Given the description of an element on the screen output the (x, y) to click on. 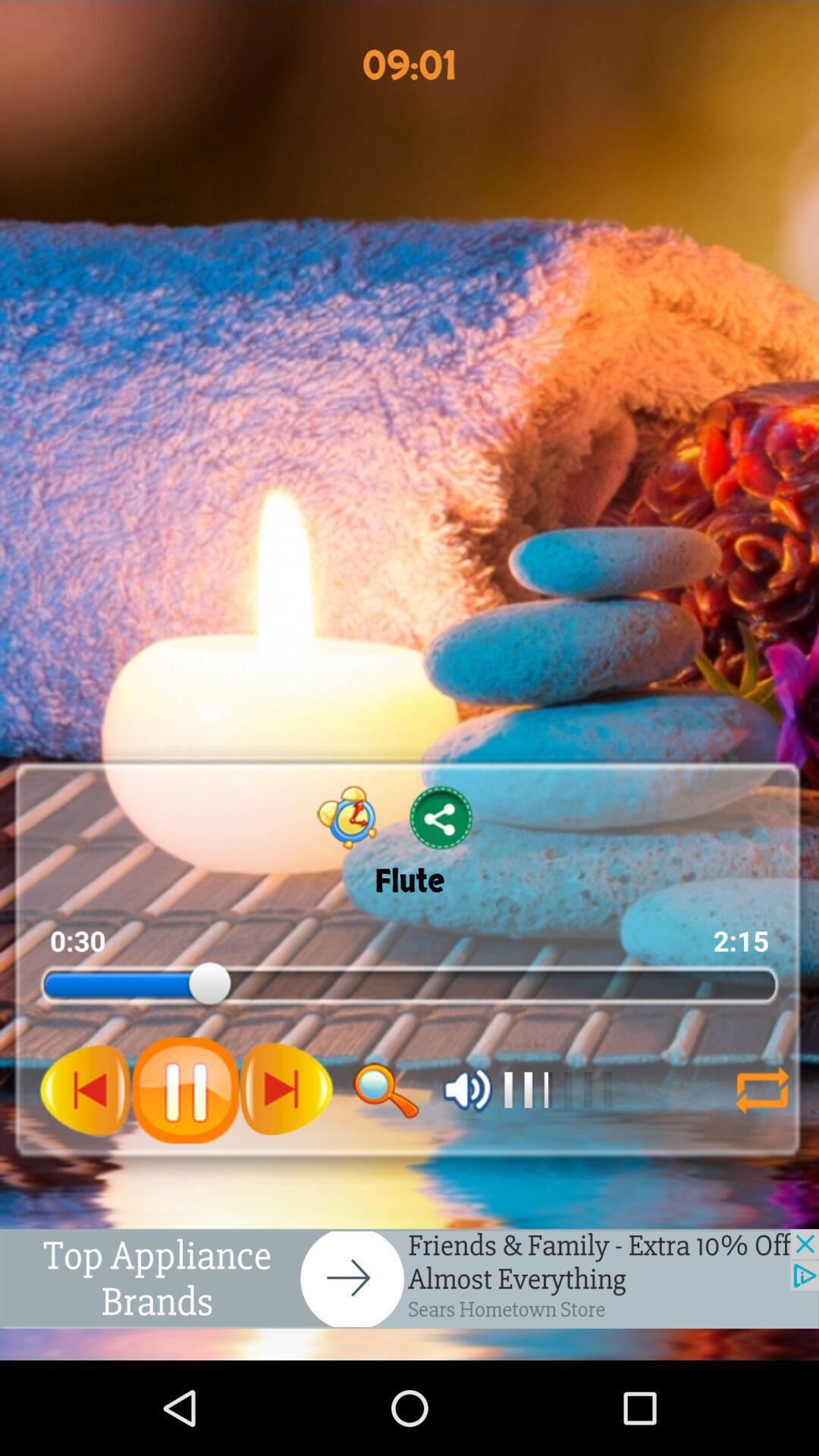
go to next button (285, 1090)
